Given the description of an element on the screen output the (x, y) to click on. 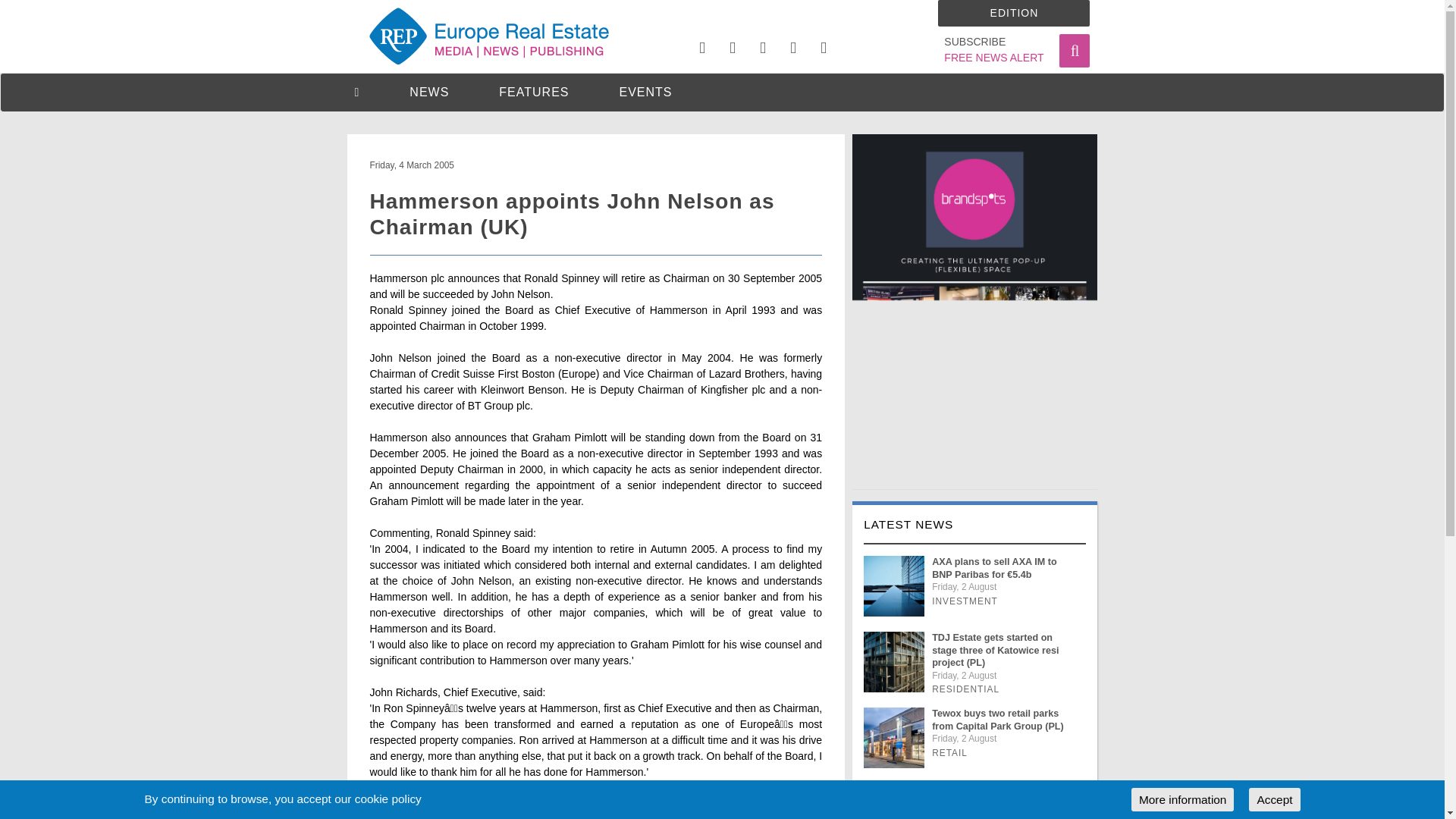
FEATURES (533, 91)
NEWS (428, 91)
EDITION (993, 49)
